Given the description of an element on the screen output the (x, y) to click on. 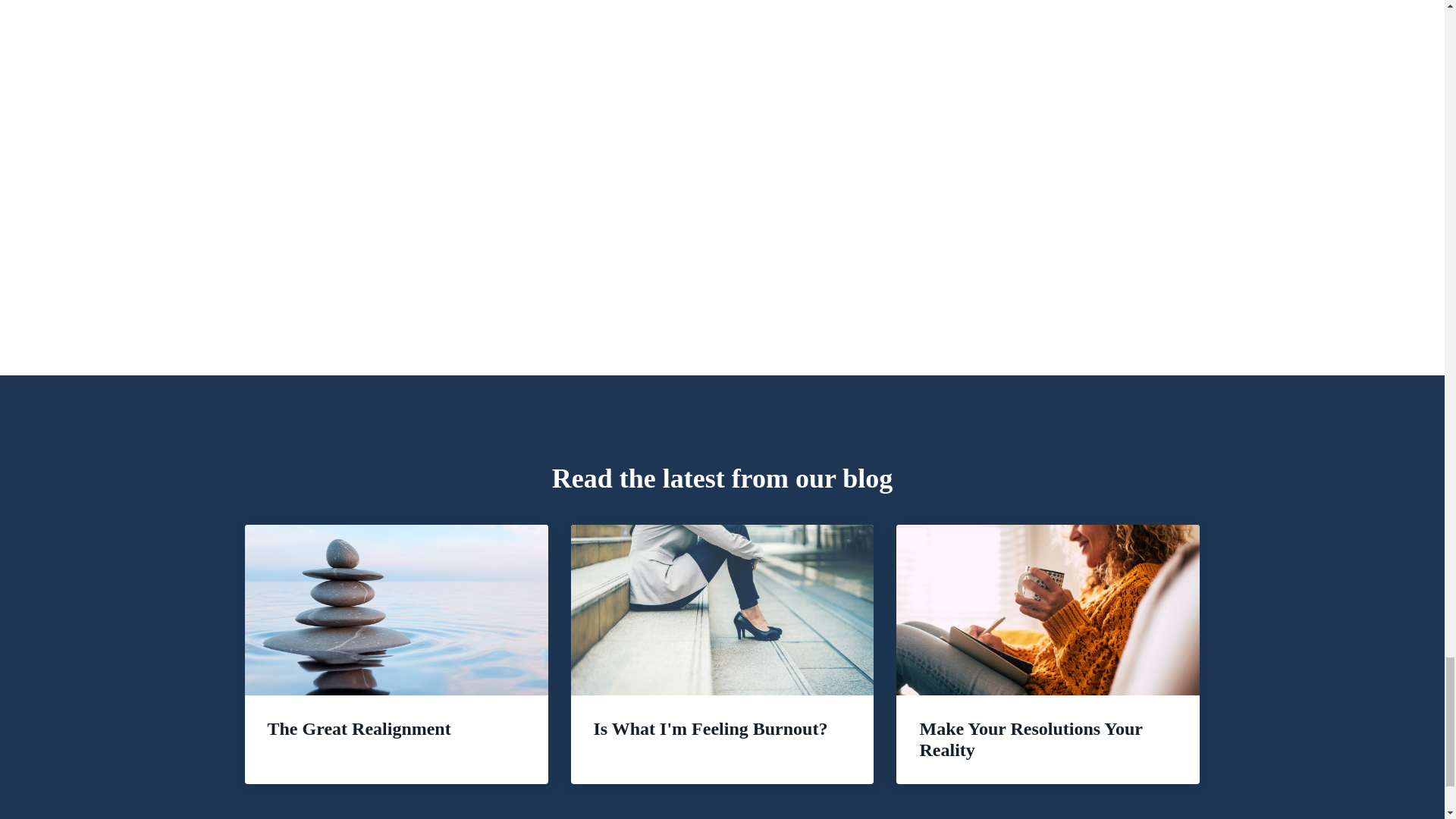
Make Your Resolutions Your Reality (1047, 654)
Is What I'm Feeling Burnout?  (721, 643)
The Great Realignment (396, 643)
